Given the description of an element on the screen output the (x, y) to click on. 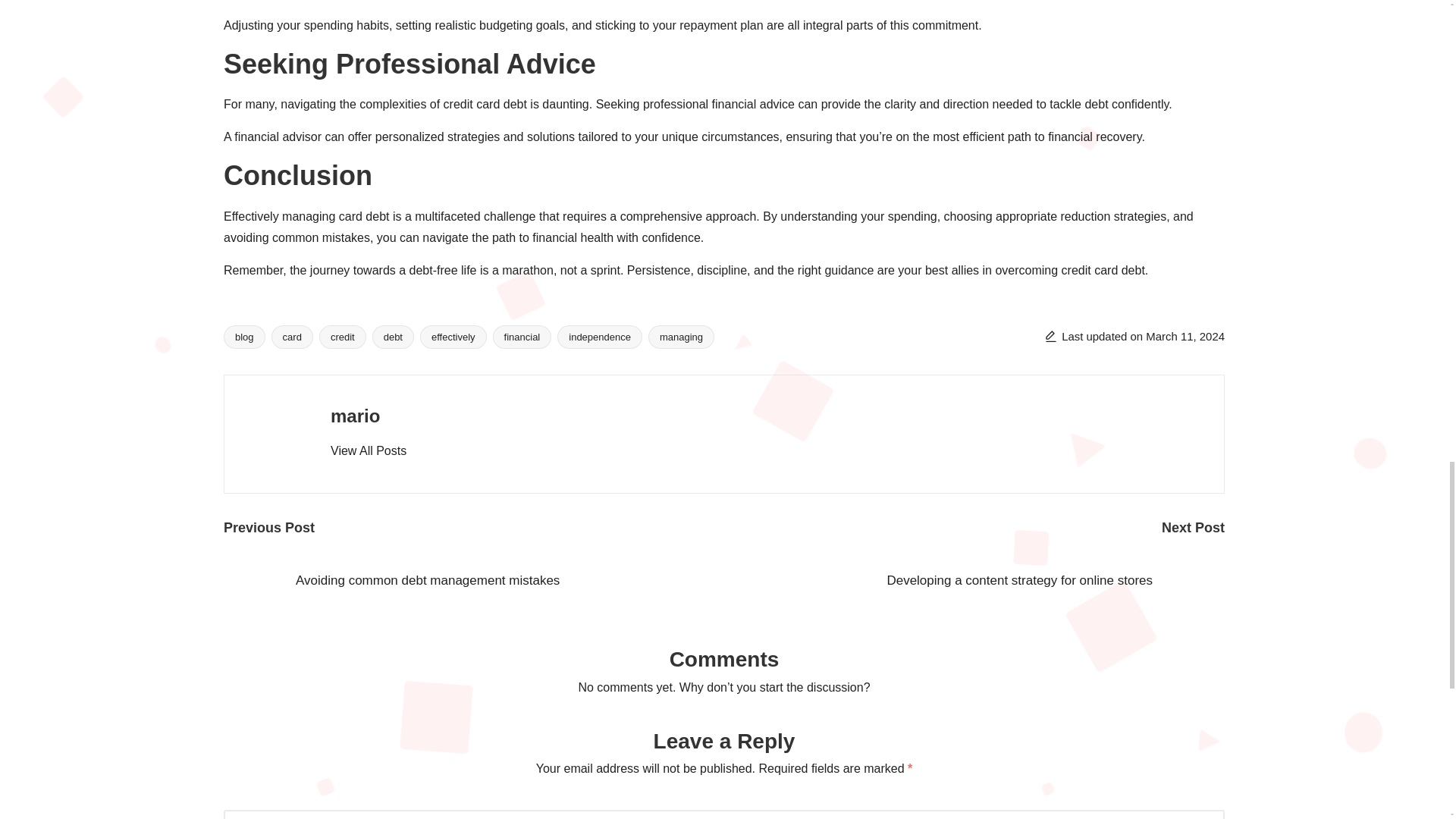
independence (599, 336)
View All Posts (368, 451)
managing (680, 336)
blog (244, 336)
card (291, 336)
effectively (453, 336)
credit (342, 336)
mario (355, 415)
debt (392, 336)
financial (522, 336)
